Given the description of an element on the screen output the (x, y) to click on. 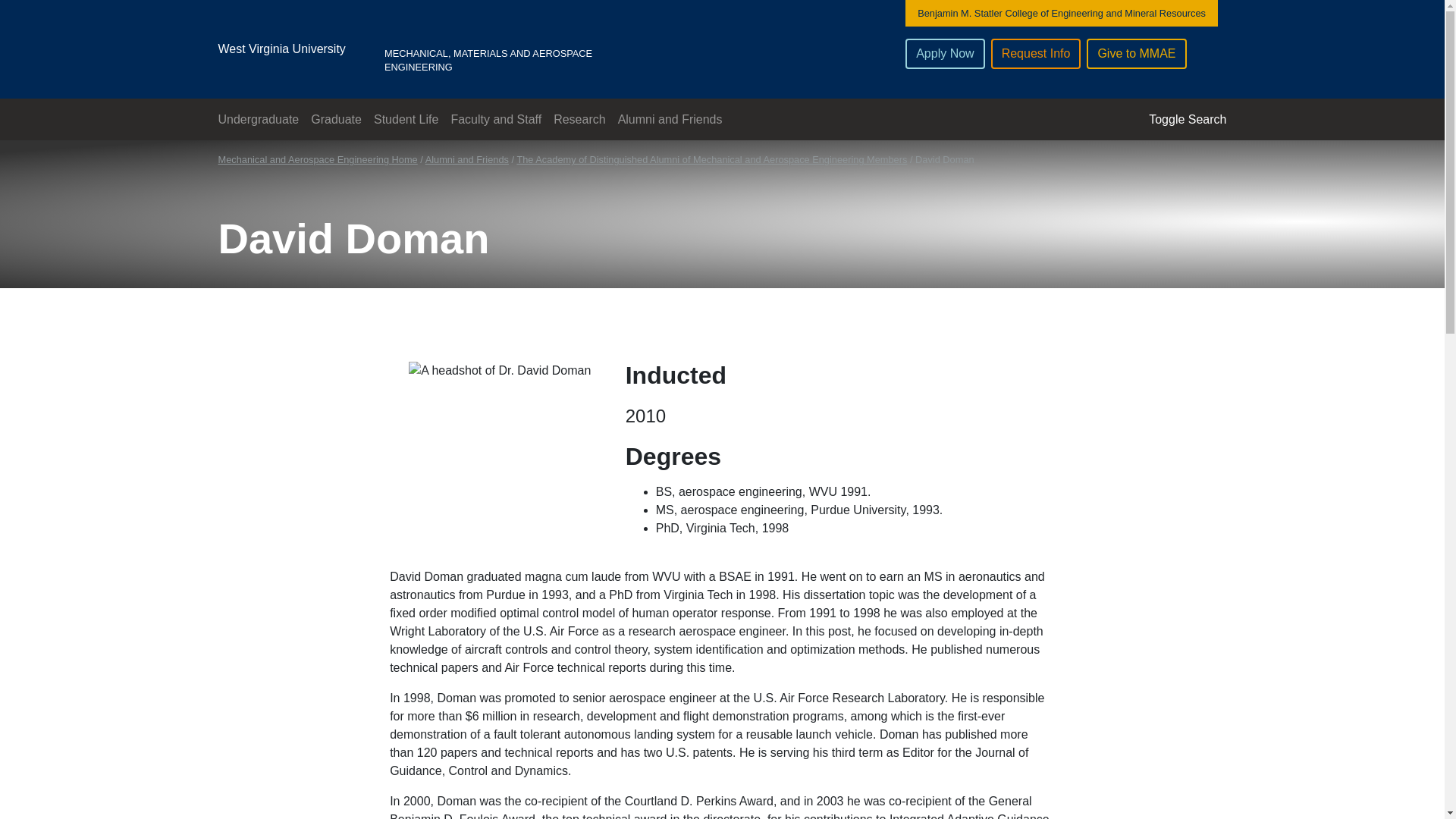
Faculty and Staff (495, 119)
Alumni and Friends (670, 119)
Apply Now (944, 53)
Student Life (406, 119)
Give to MMAE (1136, 53)
Request Info (1036, 53)
Mechanical and Aerospace Engineering Home (317, 159)
Graduate (336, 119)
